Given the description of an element on the screen output the (x, y) to click on. 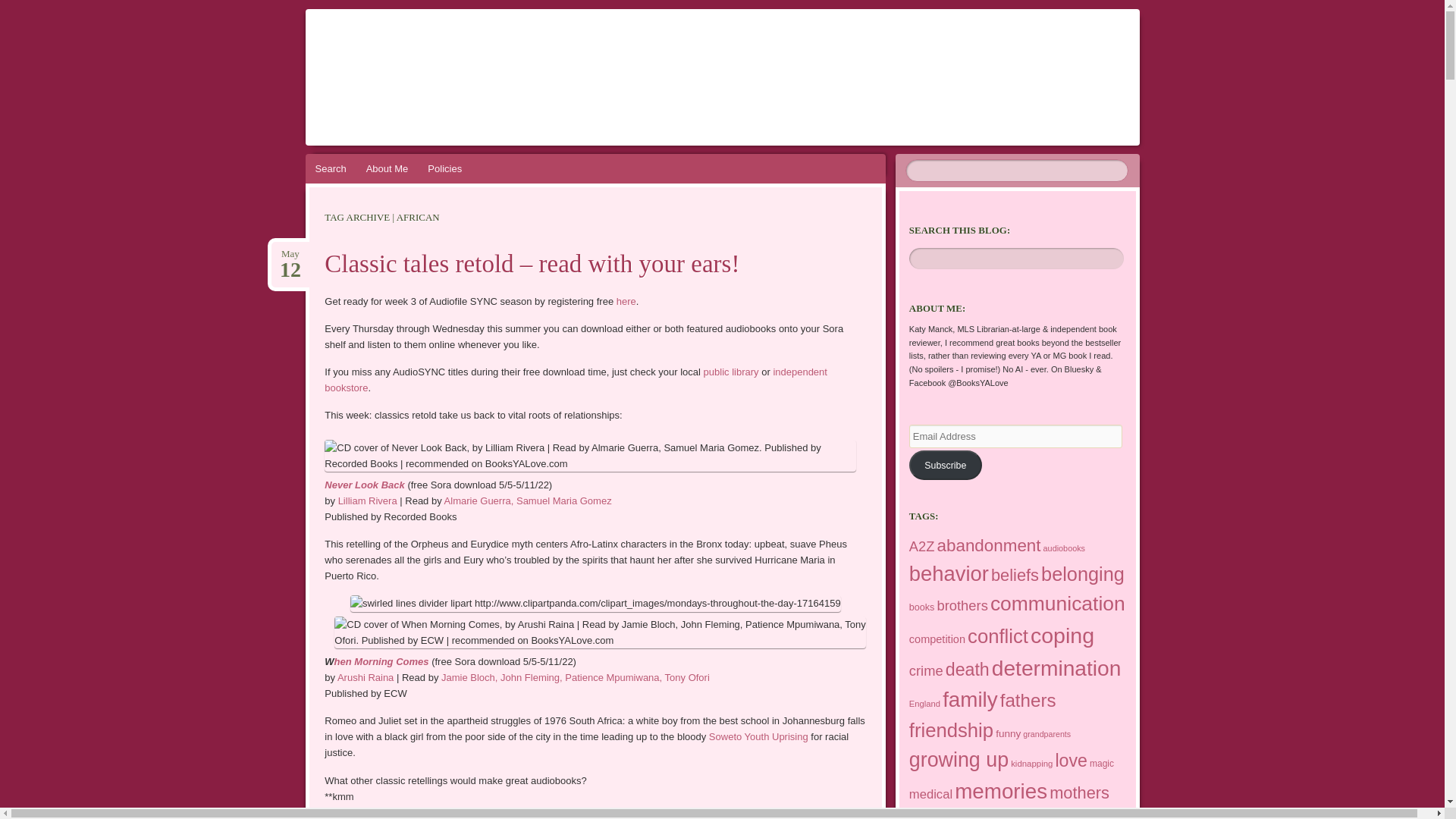
Soweto Youth Uprising (758, 736)
Policies (444, 168)
public library (730, 371)
BOOKSYALOVE (461, 60)
Lilliam Rivera (367, 500)
BooksYALove (461, 60)
May 12, 2022 (289, 254)
Never Look Back (289, 254)
Search (364, 484)
